Given the description of an element on the screen output the (x, y) to click on. 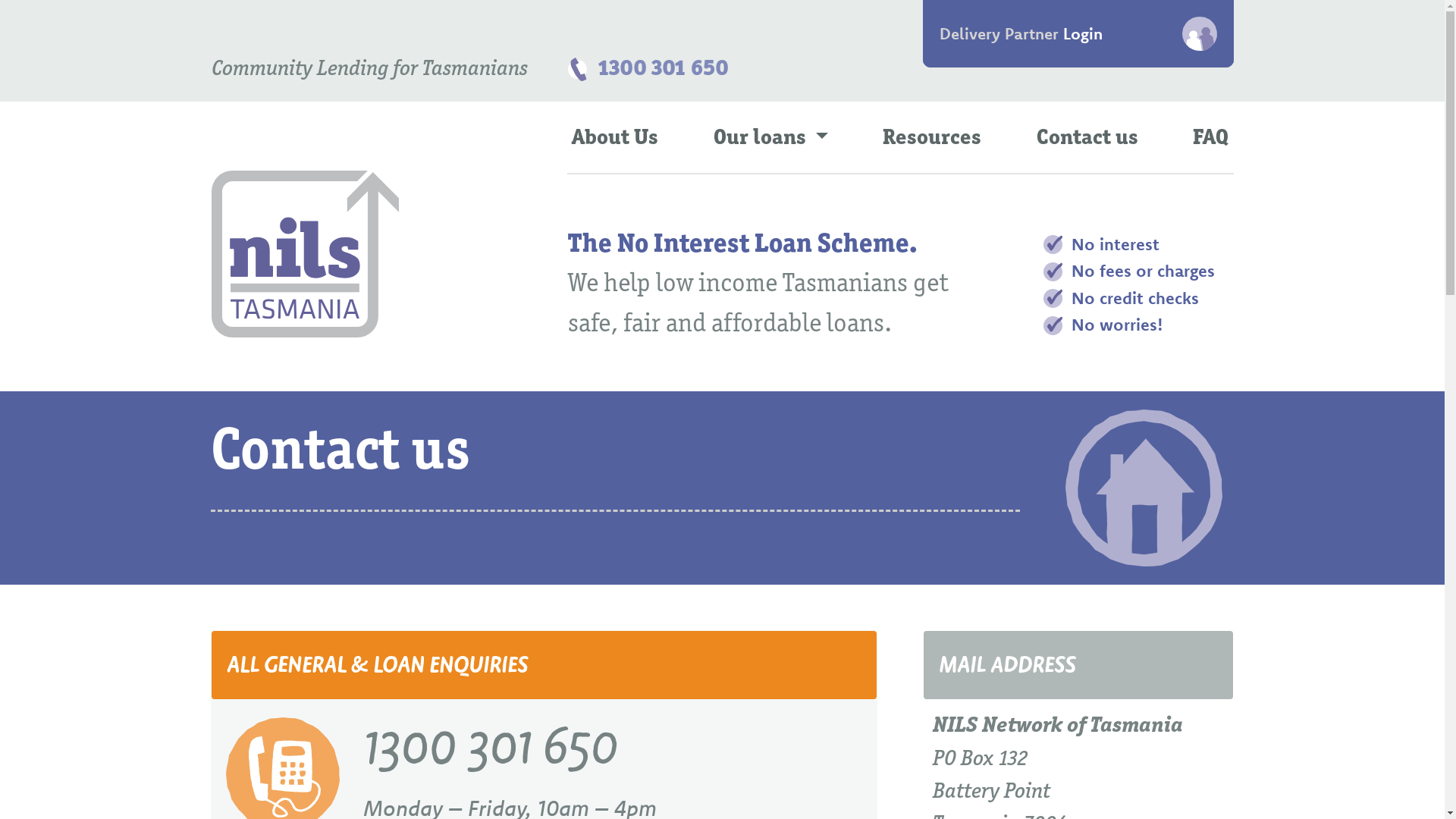
Contact us Element type: text (1086, 138)
Delivery Partner Login Element type: text (1077, 33)
FAQ Element type: text (1209, 138)
About Us Element type: text (615, 138)
Our loans Element type: text (770, 138)
Resources Element type: text (932, 138)
